Given the description of an element on the screen output the (x, y) to click on. 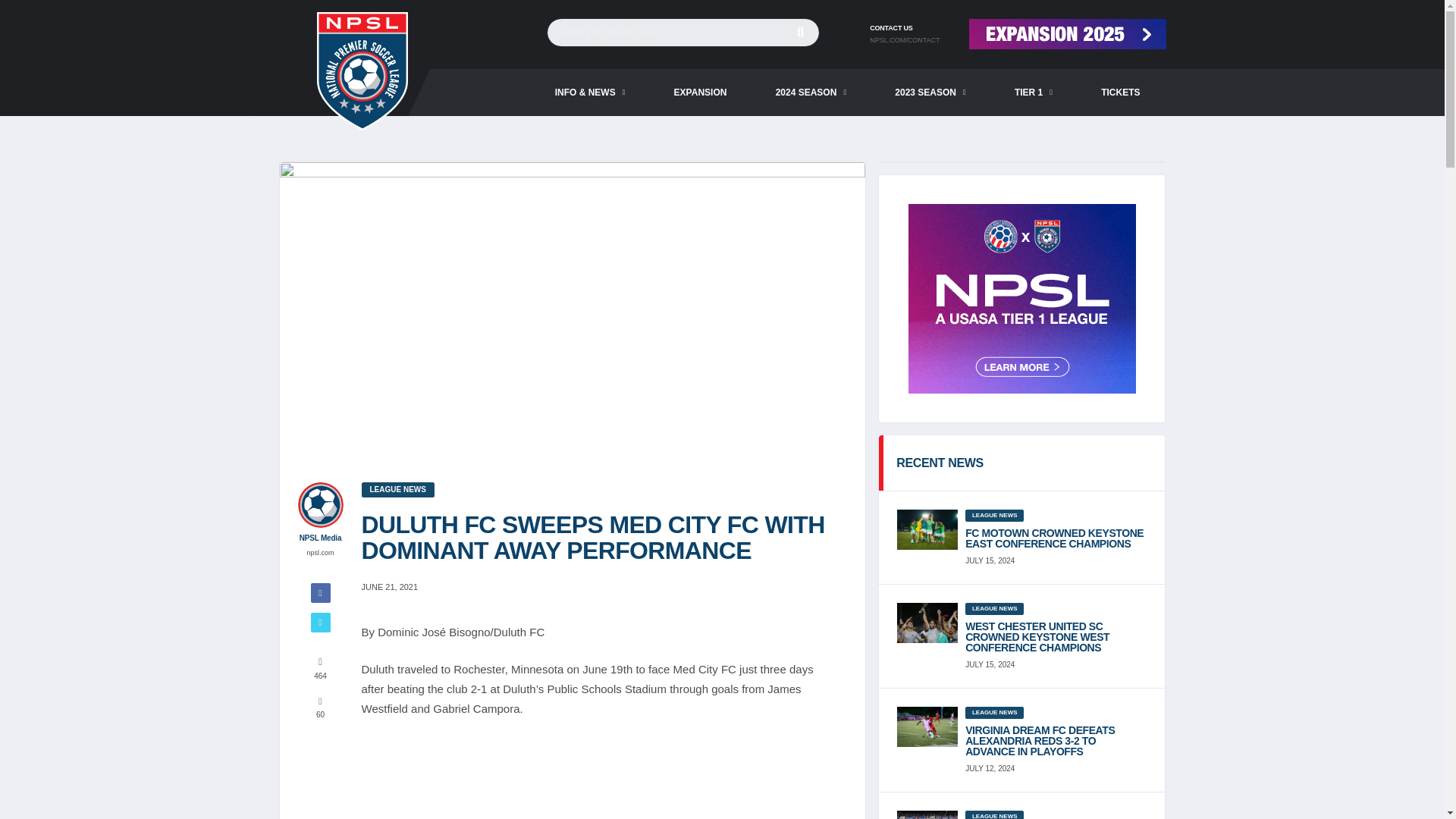
2024 SEASON (810, 92)
EXPANSION (699, 92)
FC Motown Crowned Keystone East Conference Champions (1056, 537)
